Given the description of an element on the screen output the (x, y) to click on. 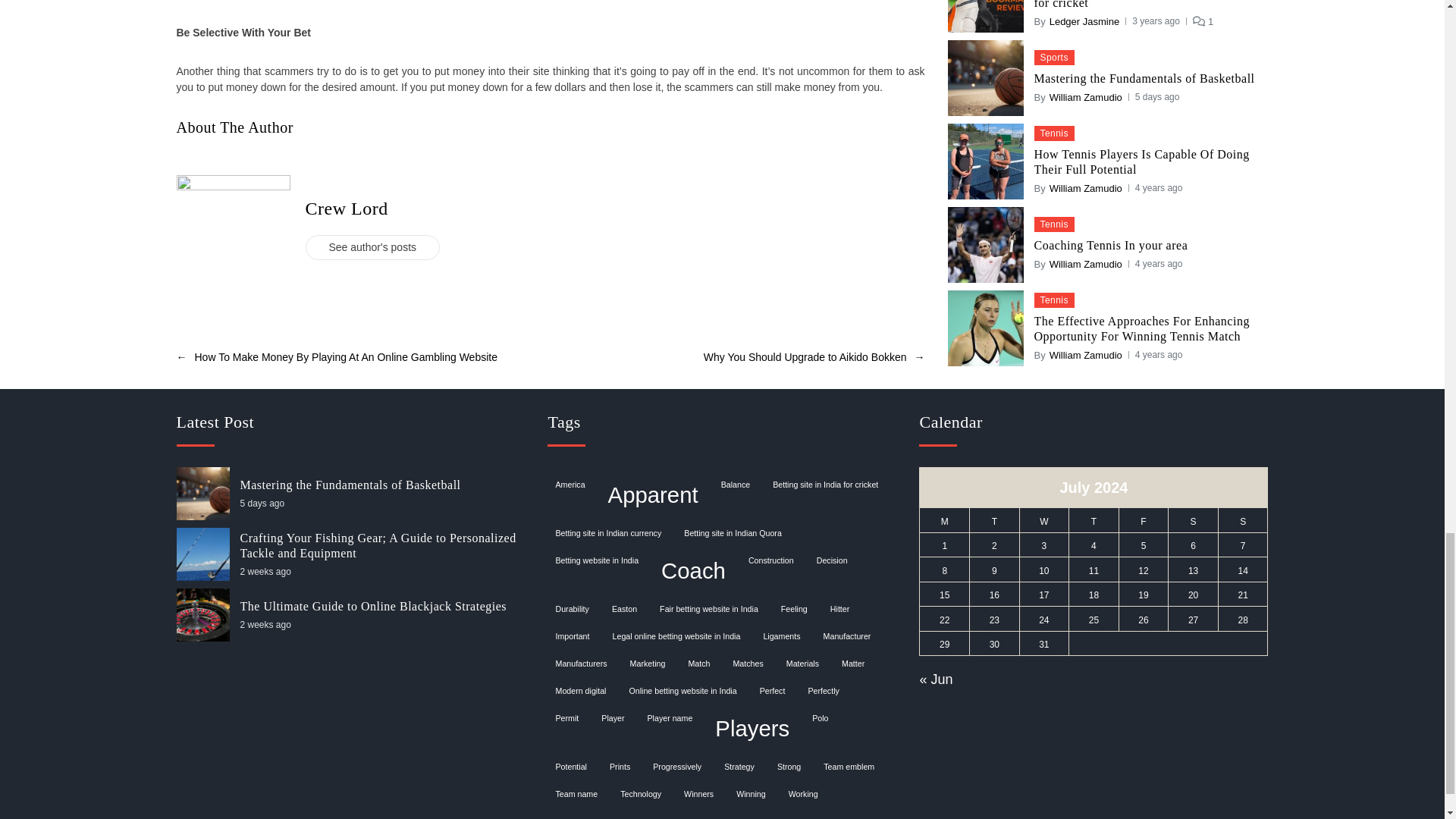
Sunday (1242, 520)
See author's posts (371, 16)
Saturday (1193, 520)
Tuesday (994, 520)
Wednesday (1043, 520)
Friday (1143, 520)
Thursday (1093, 520)
Monday (944, 520)
